Given the description of an element on the screen output the (x, y) to click on. 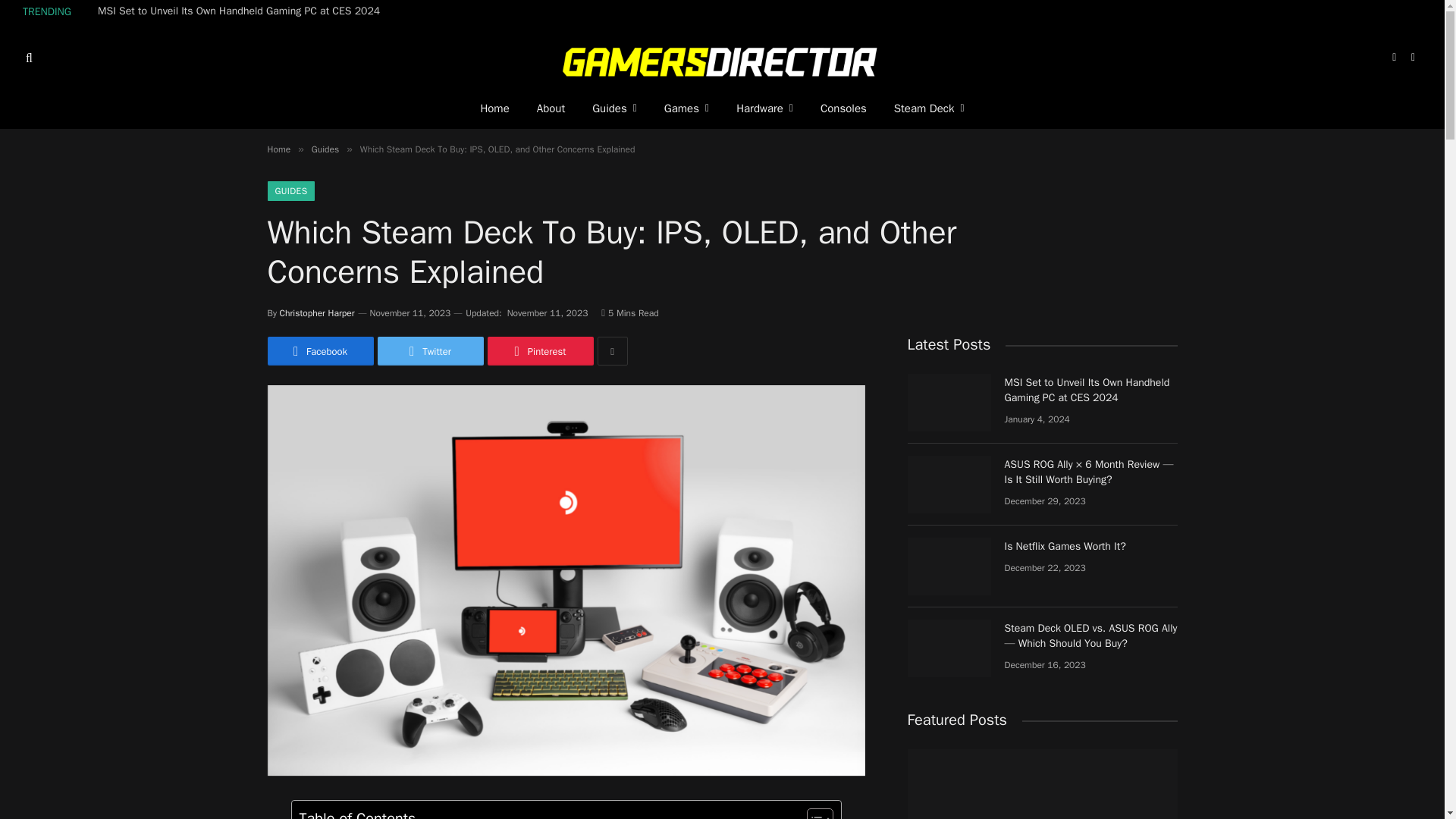
About (550, 107)
GamersDirector (721, 57)
Home (493, 107)
Search (27, 57)
Discord (1413, 57)
Guides (614, 107)
TikTok (1394, 57)
MSI Set to Unveil Its Own Handheld Gaming PC at CES 2024 (242, 11)
